Given the description of an element on the screen output the (x, y) to click on. 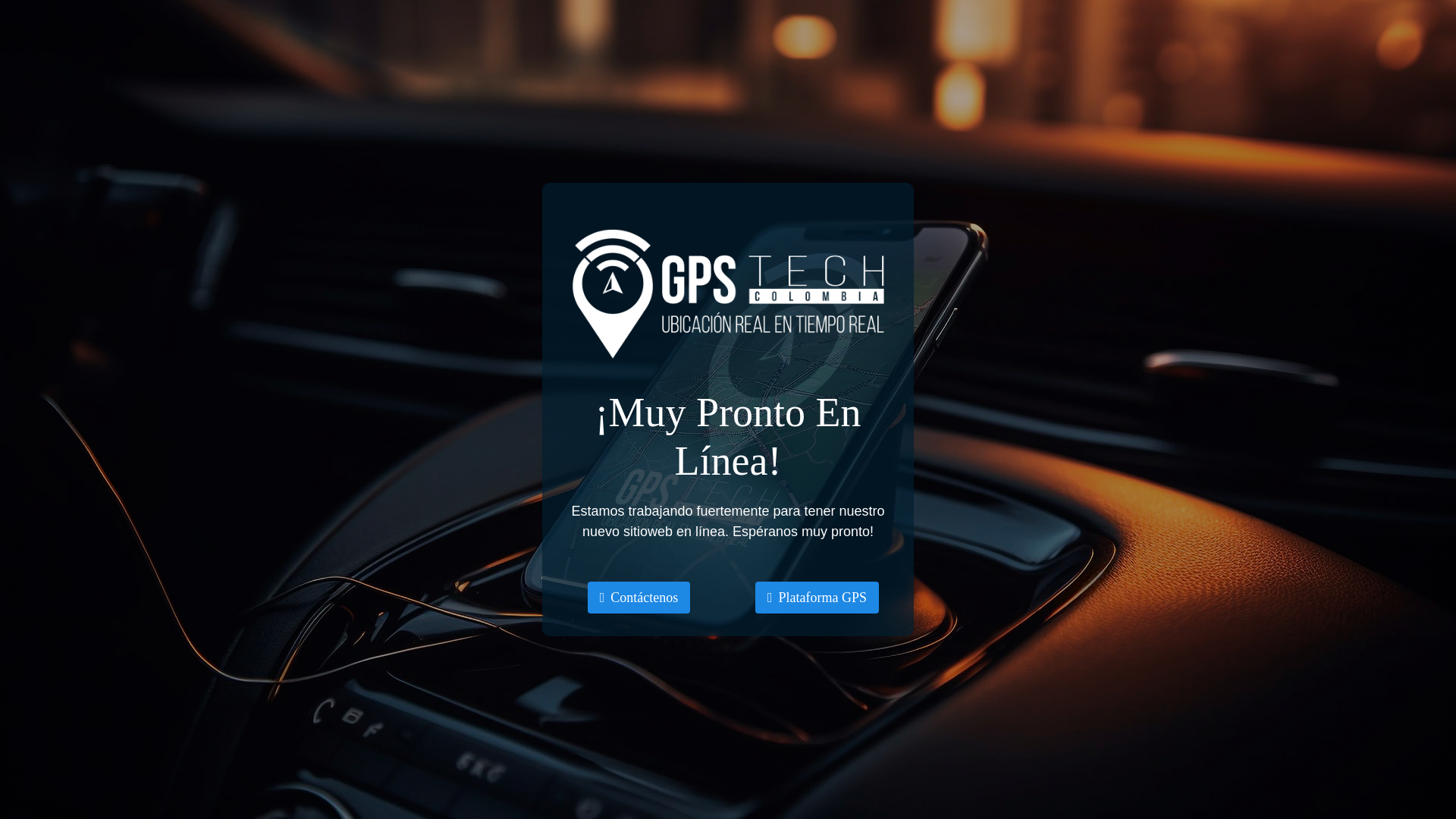
Plataforma GPS (817, 597)
